Given the description of an element on the screen output the (x, y) to click on. 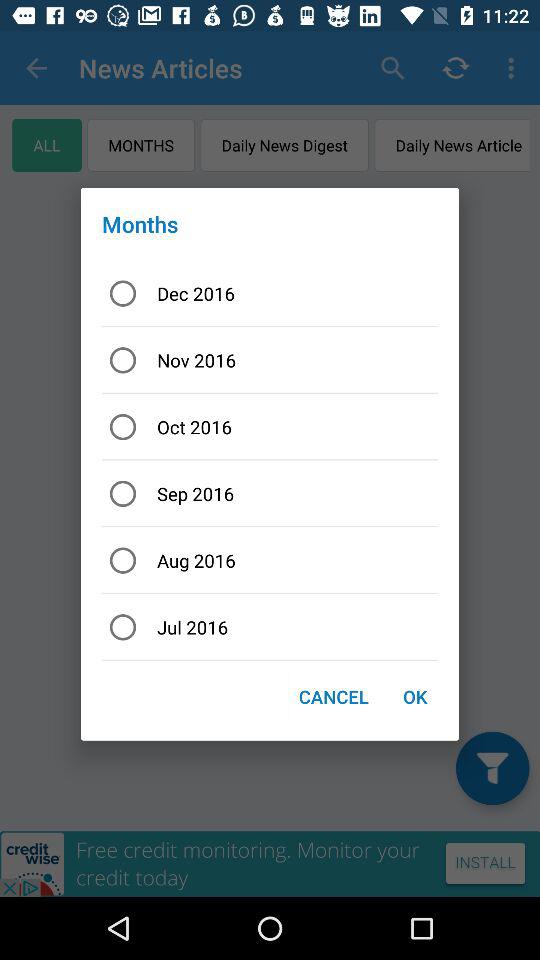
open the icon below jul 2016 item (414, 696)
